Given the description of an element on the screen output the (x, y) to click on. 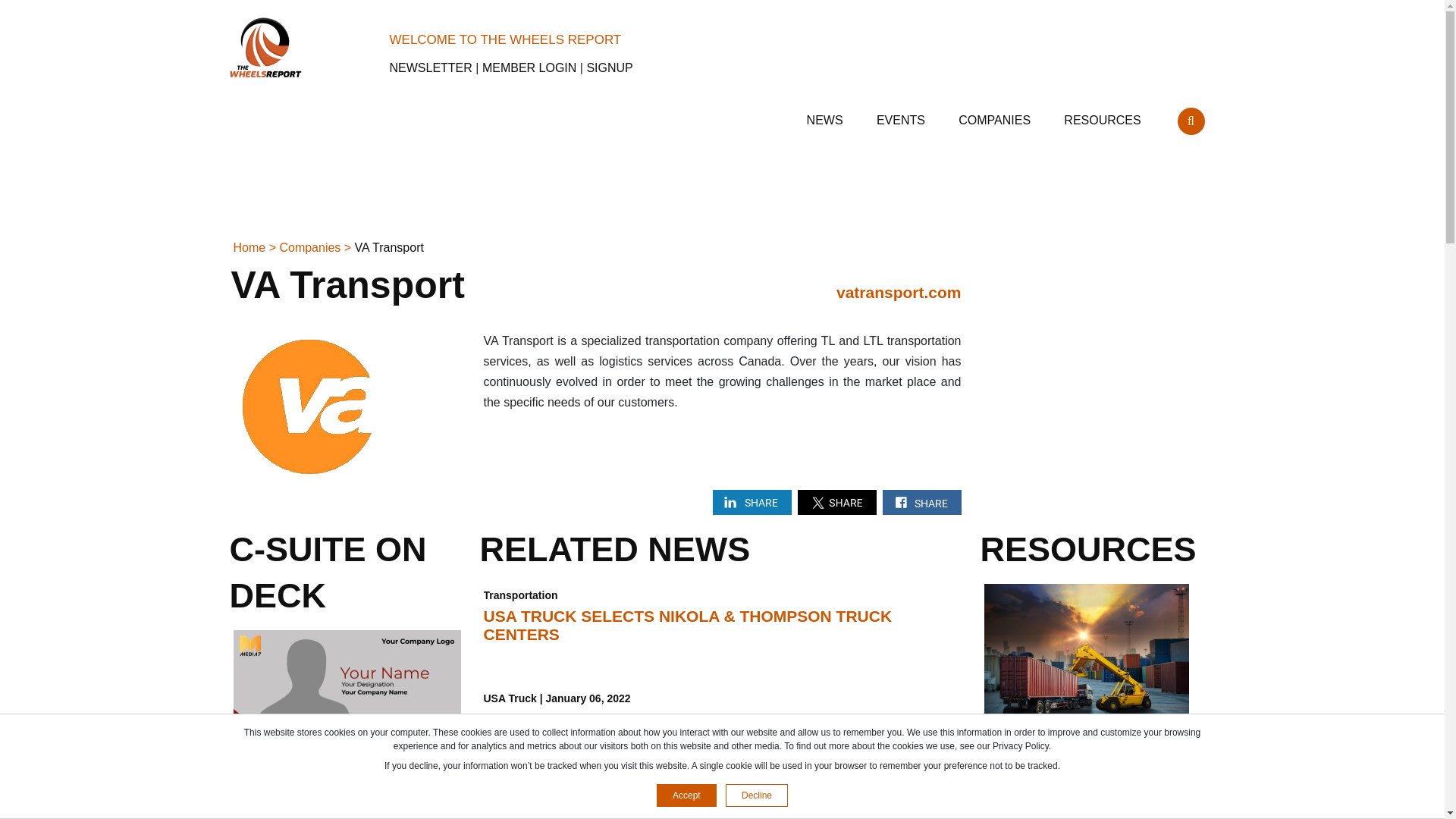
NEWS (825, 113)
COMPANIES (996, 113)
MEMBER LOGIN (528, 67)
RESOURCES (1104, 113)
NEWSLETTER (430, 67)
SIGNUP (608, 67)
EVENTS (901, 113)
Advertisement (1094, 360)
Advertisement (721, 191)
